Given the description of an element on the screen output the (x, y) to click on. 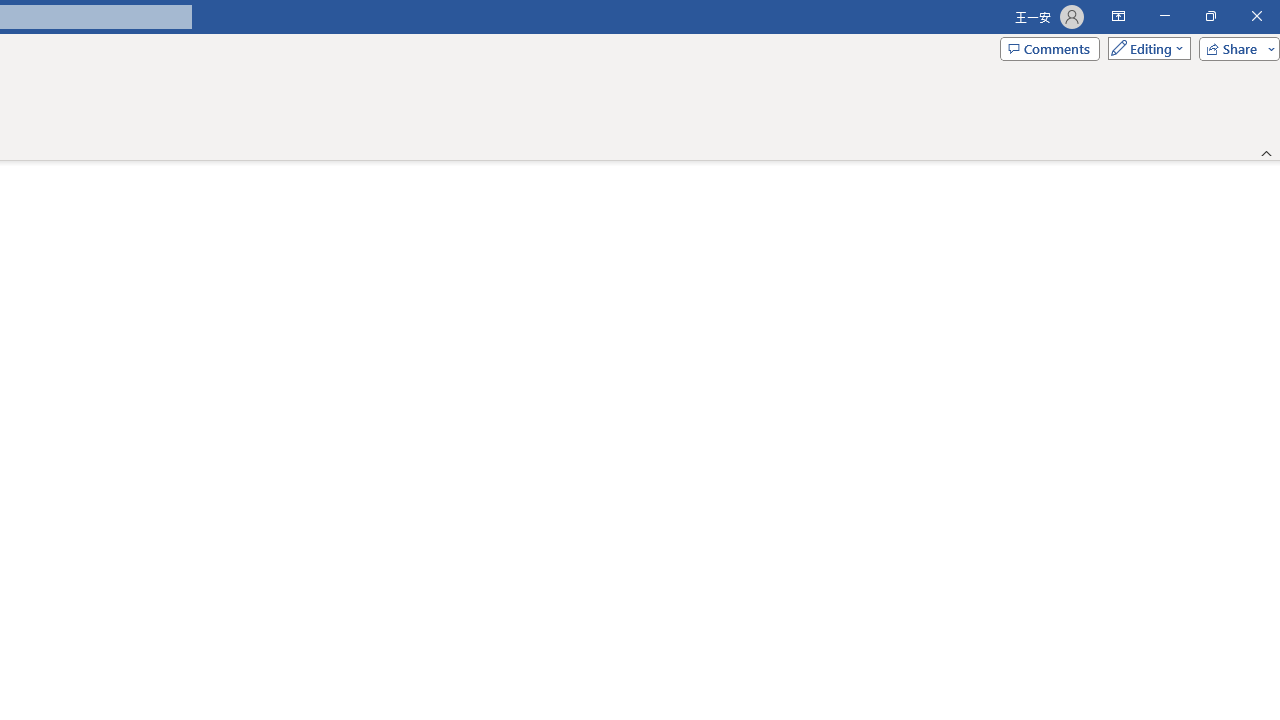
Collapse the Ribbon (1267, 152)
Ribbon Display Options (1118, 16)
Restore Down (1210, 16)
Editing (1144, 47)
Comments (1049, 48)
Share (1235, 48)
Close (1256, 16)
Minimize (1164, 16)
